Given the description of an element on the screen output the (x, y) to click on. 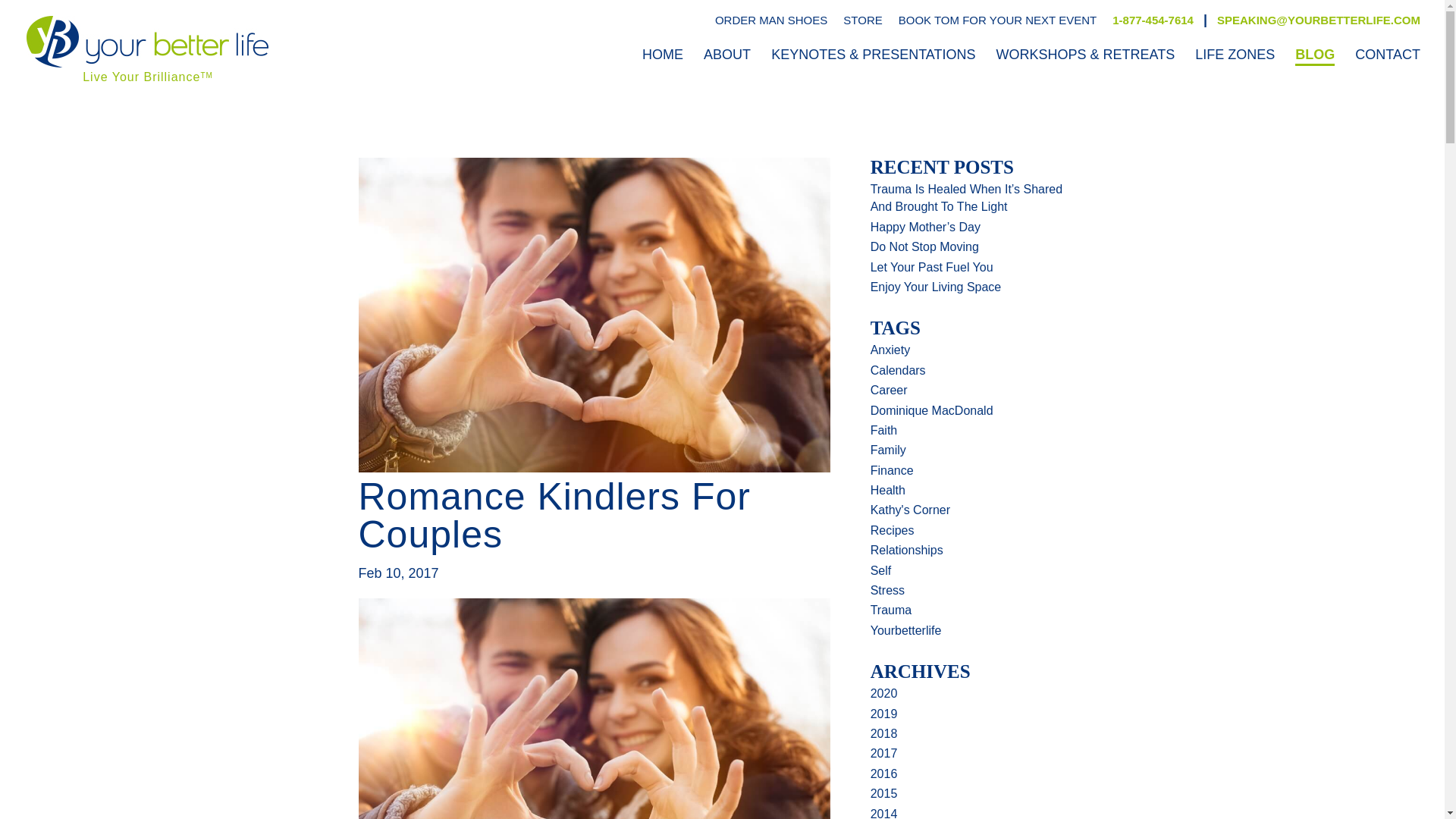
1-877-454-7614 (1152, 19)
ORDER MAN SHOES (770, 19)
BOOK TOM FOR YOUR NEXT EVENT (997, 19)
ABOUT (727, 56)
STORE (862, 19)
HOME (662, 56)
